Given the description of an element on the screen output the (x, y) to click on. 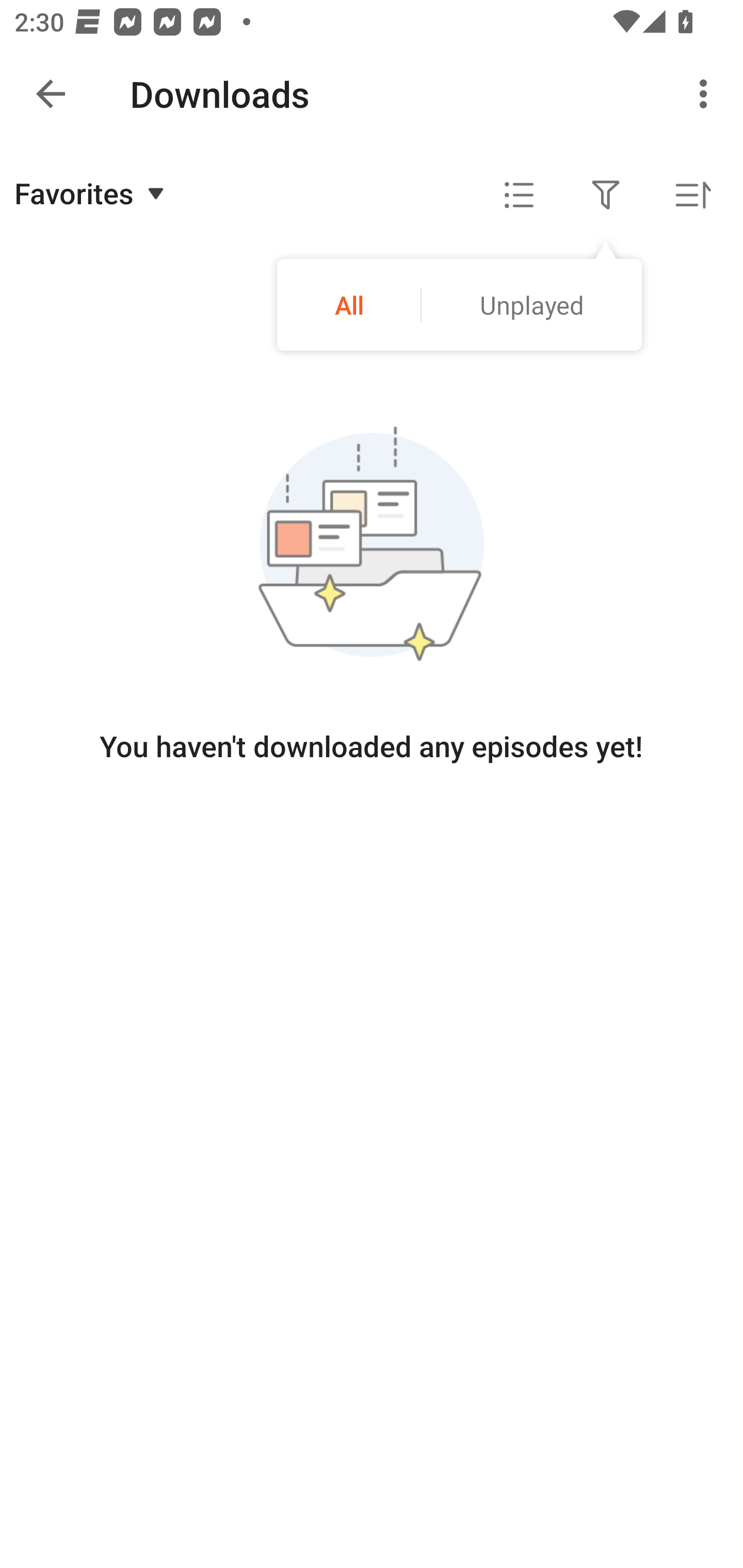
All (349, 304)
Unplayed (531, 304)
